Given the description of an element on the screen output the (x, y) to click on. 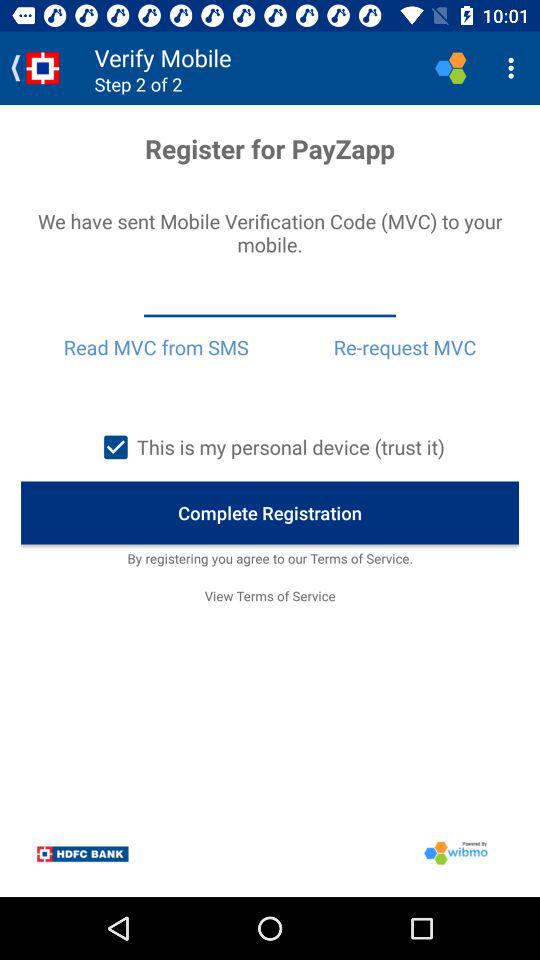
enter code (269, 299)
